Given the description of an element on the screen output the (x, y) to click on. 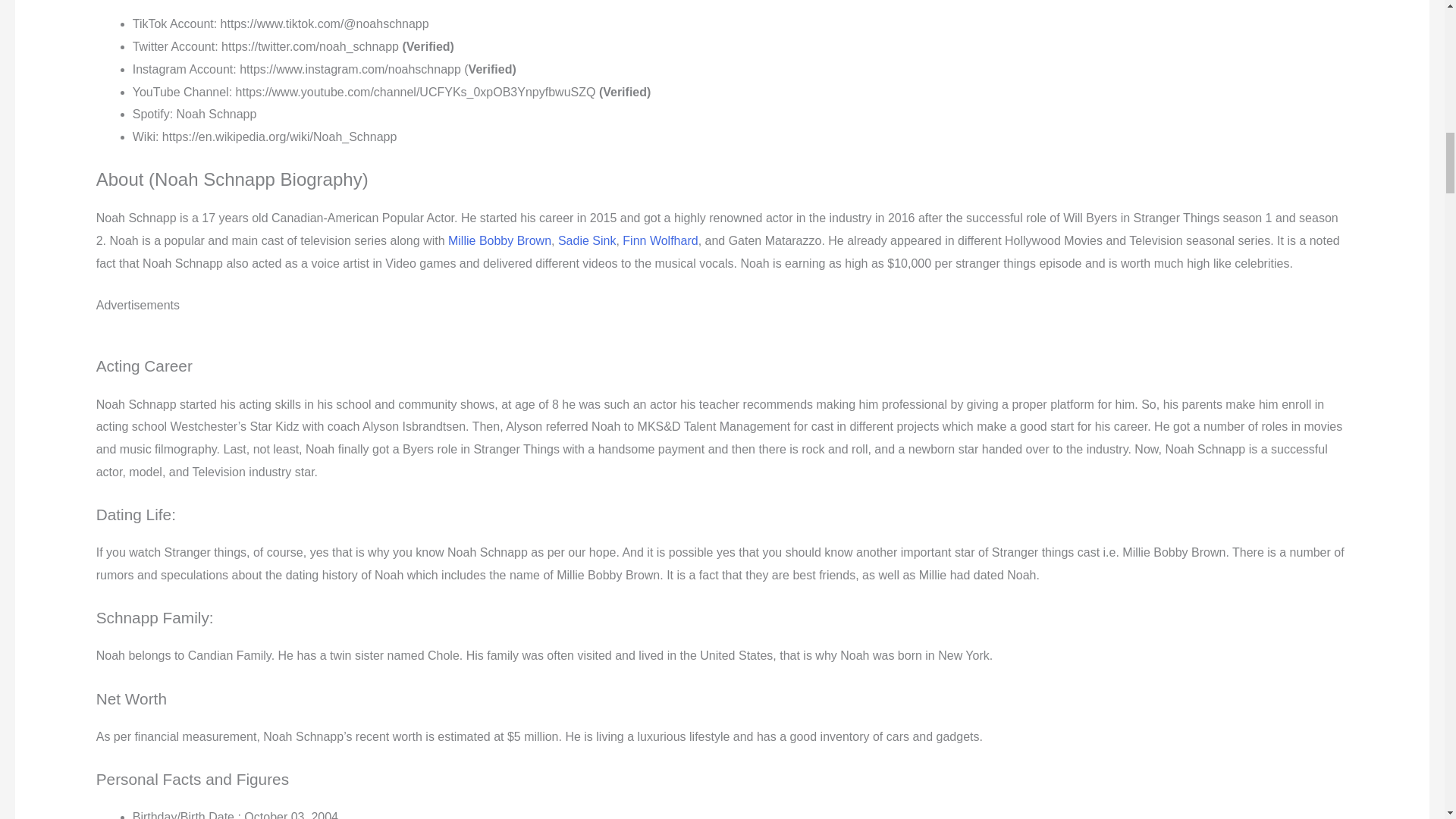
Finn Wolfhard (660, 240)
Sadie Sink (586, 240)
Millie Bobby Brown (499, 240)
